Given the description of an element on the screen output the (x, y) to click on. 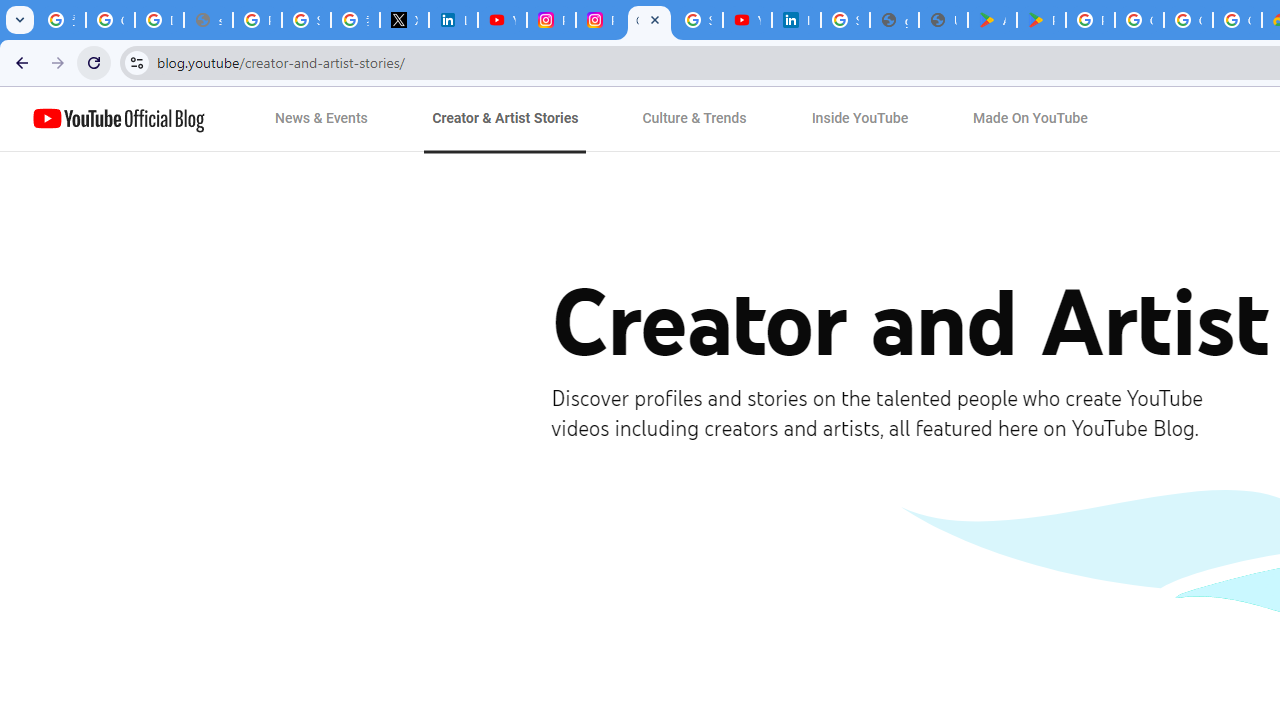
google_privacy_policy_en.pdf (894, 20)
News & Events (321, 119)
Made On YouTube (1030, 119)
Google Workspace - Specific Terms (1237, 20)
Sign in - Google Accounts (306, 20)
User Details (943, 20)
PAW Patrol Rescue World - Apps on Google Play (1041, 20)
YouTube Official Blog logo (118, 119)
Sign in - Google Accounts (845, 20)
